Given the description of an element on the screen output the (x, y) to click on. 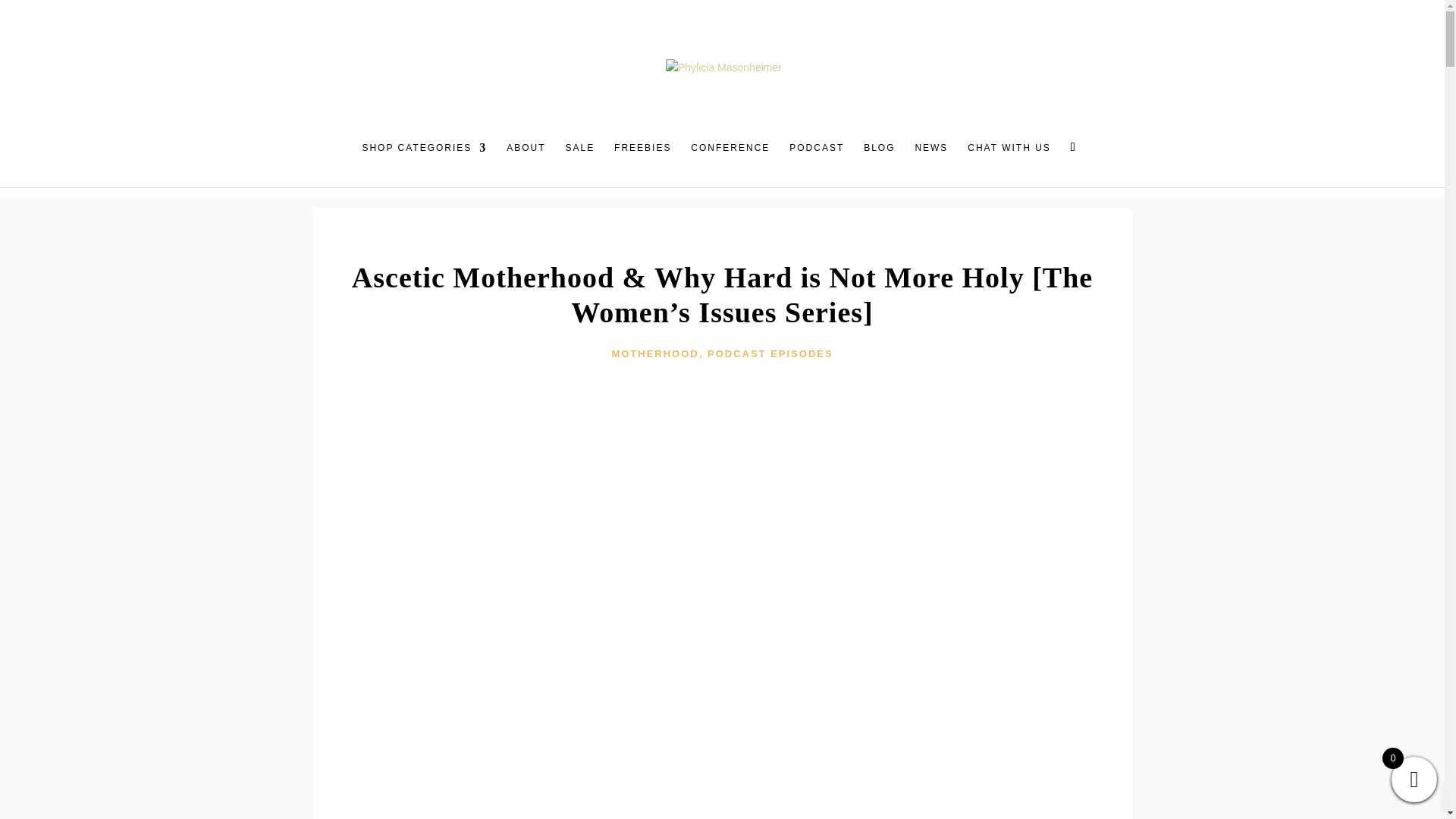
MOTHERHOOD (654, 353)
NEWS (930, 156)
CHAT WITH US (1009, 156)
PODCAST EPISODES (769, 353)
CONFERENCE (730, 156)
SHOP CATEGORIES (423, 156)
BLOG (879, 156)
FREEBIES (642, 156)
PODCAST (816, 156)
ABOUT (525, 156)
SALE (579, 156)
